Given the description of an element on the screen output the (x, y) to click on. 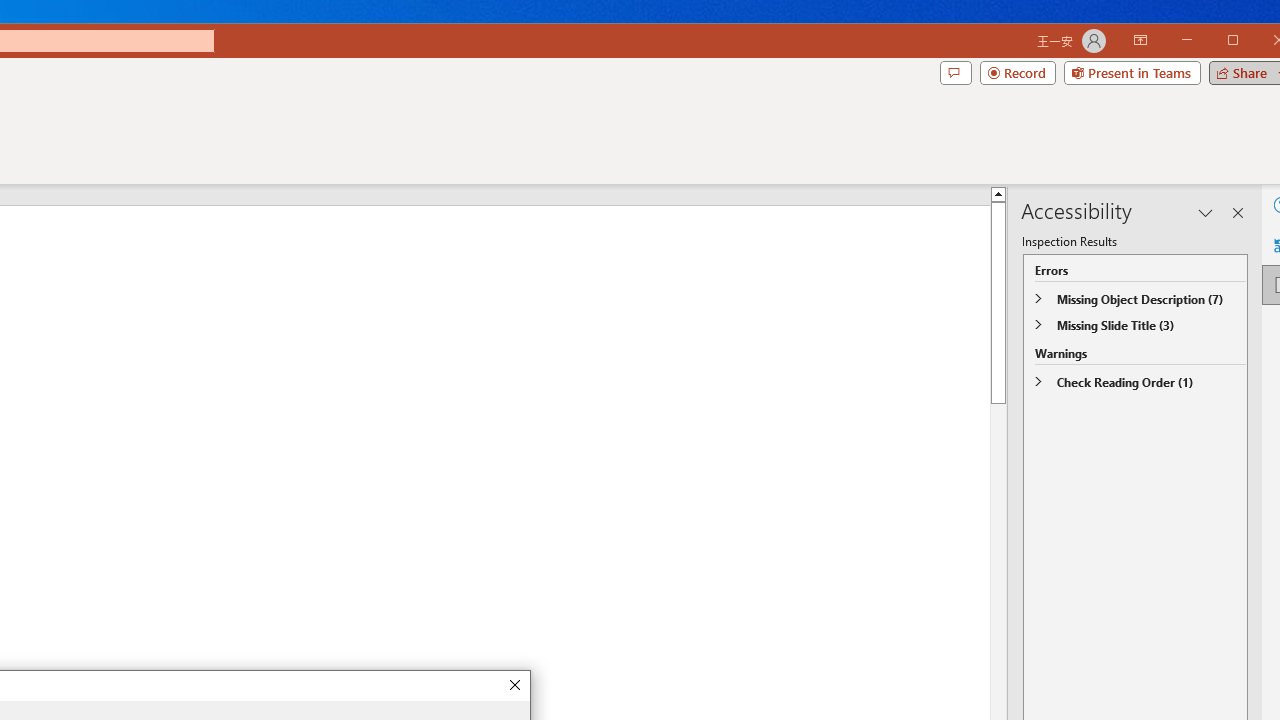
Maximize (1261, 42)
